Given the description of an element on the screen output the (x, y) to click on. 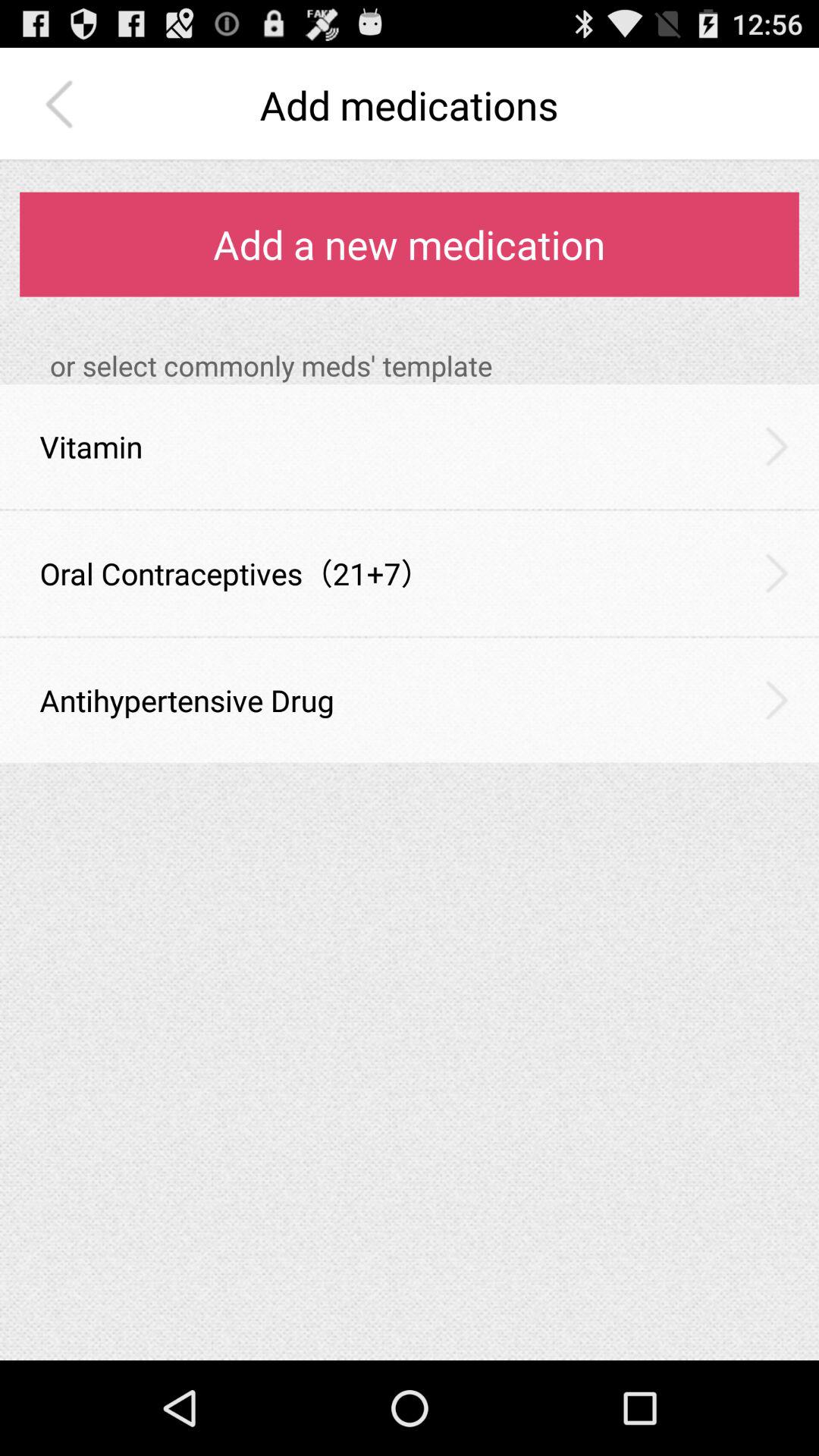
press icon below vitamin icon (409, 510)
